Given the description of an element on the screen output the (x, y) to click on. 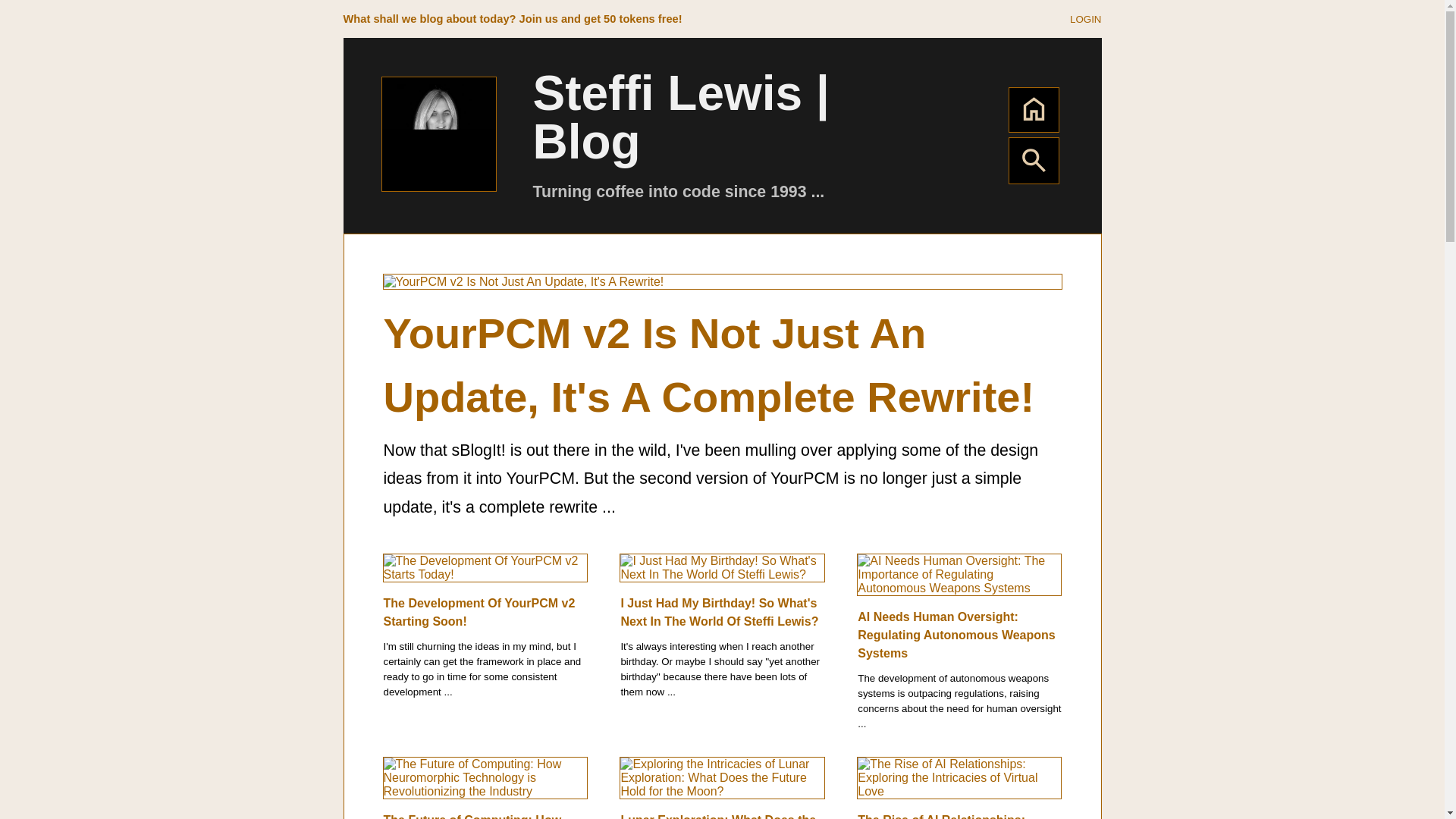
Click here to view this blog post (955, 635)
Lunar Exploration: What Does the Future Hold for the Moon? (717, 816)
Click here to search for specific blog posts (1032, 171)
Steffi Lewis (438, 133)
Click here to view (1085, 18)
Click here to view this blog post (717, 816)
Click here to view this blog post (485, 566)
Click here to view this blog post (722, 566)
